Given the description of an element on the screen output the (x, y) to click on. 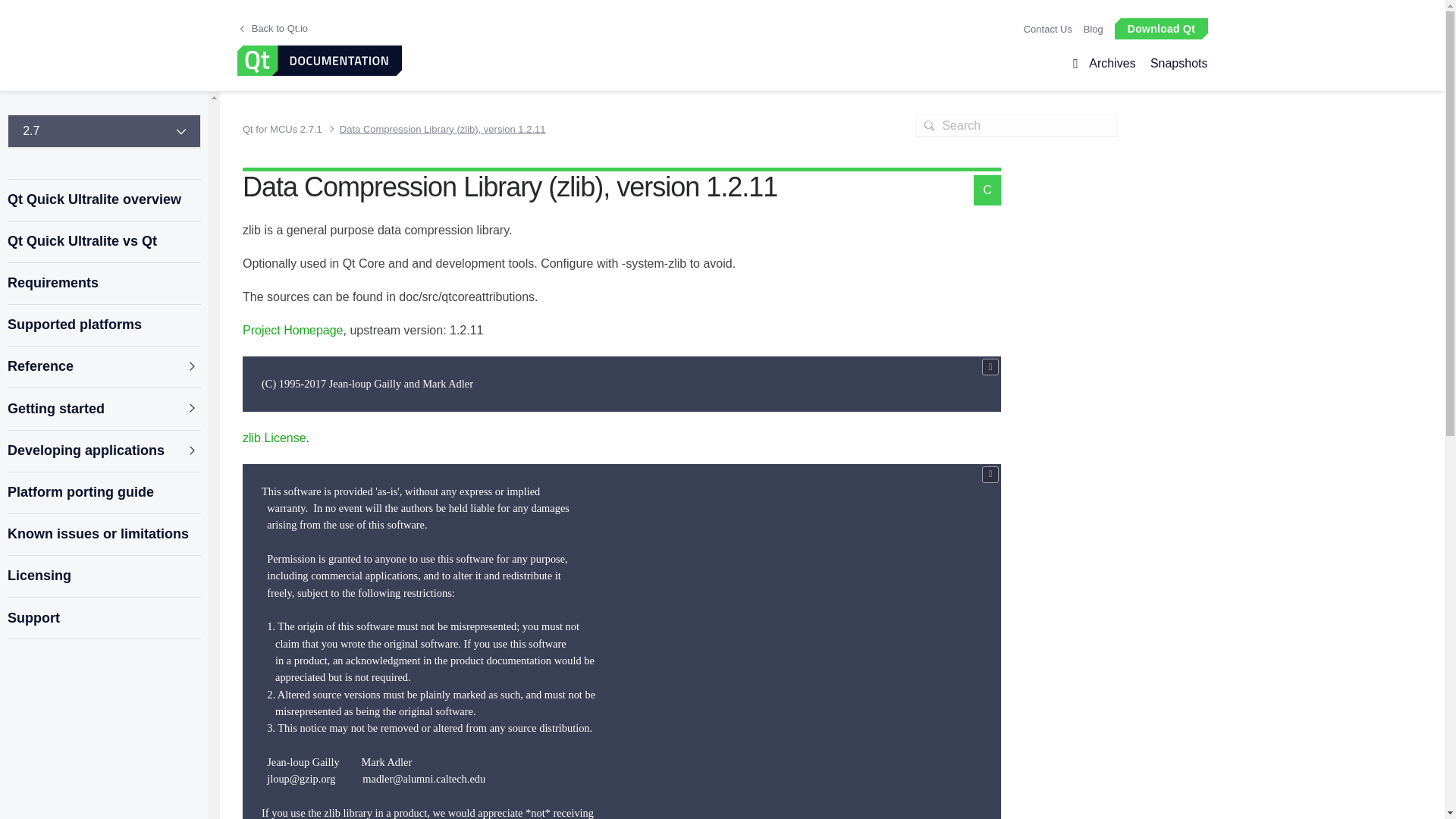
Reference (103, 366)
Known issues or limitations (103, 534)
Platform porting guide (103, 492)
Archives (1111, 63)
Licensing (103, 575)
Contact Us (1047, 28)
Getting started (103, 408)
Download Qt (1160, 27)
Requirements (103, 283)
Qt Quick Ultralite overview (103, 199)
